Given the description of an element on the screen output the (x, y) to click on. 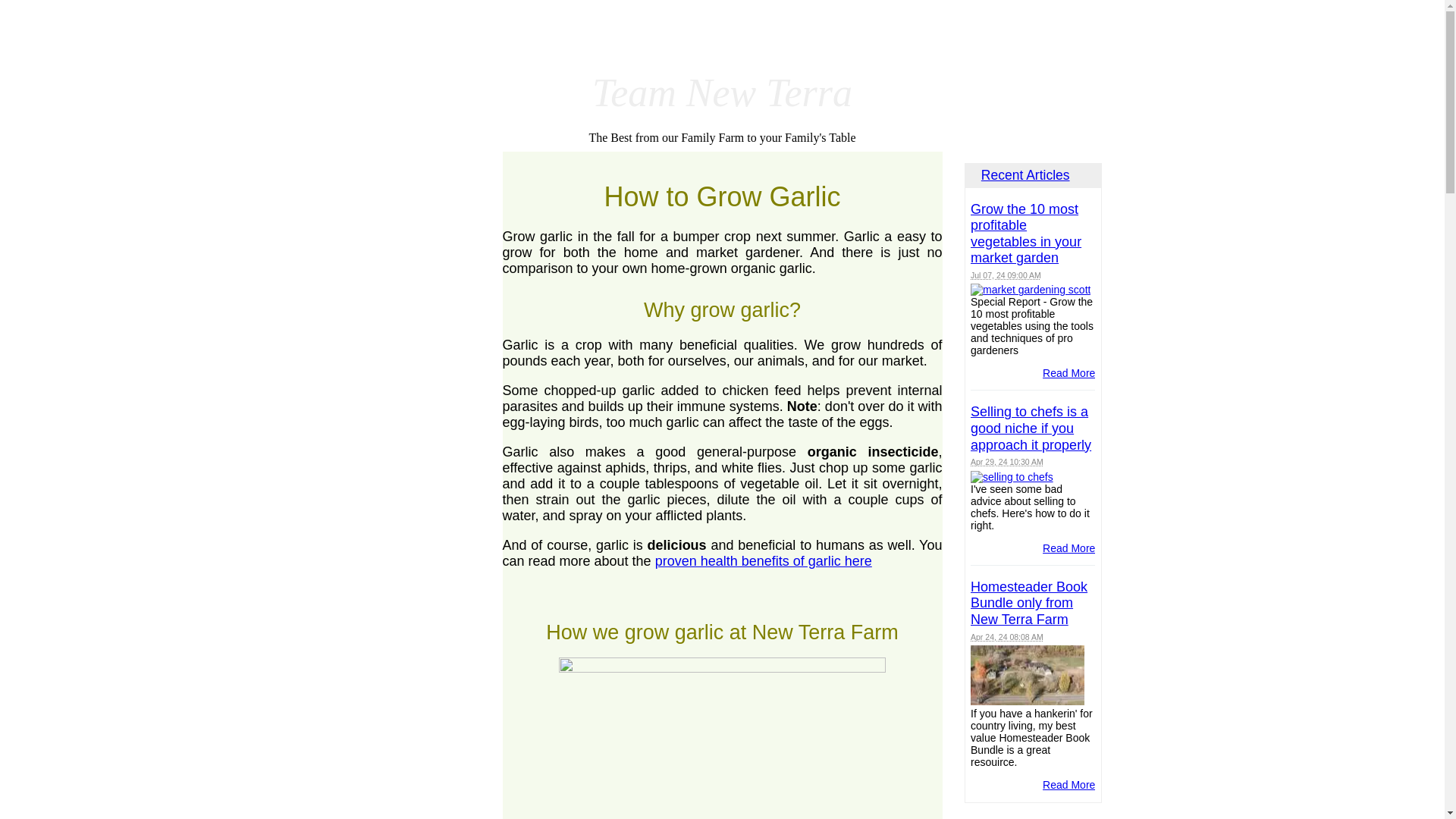
2024-07-07T09:00:09-0400 (1006, 275)
Read More (1068, 548)
Grow the 10 most profitable vegetables in your market garden (1026, 233)
2024-04-29T10:30:58-0400 (1007, 461)
Team New Terra (721, 92)
Read More (1068, 784)
2024-04-24T08:08:40-0400 (1007, 636)
Selling to chefs is a good niche if you approach it properly (1030, 428)
Homesteader Book Bundle only from New Terra Farm (1029, 603)
proven health benefits of garlic here (763, 560)
